Given the description of an element on the screen output the (x, y) to click on. 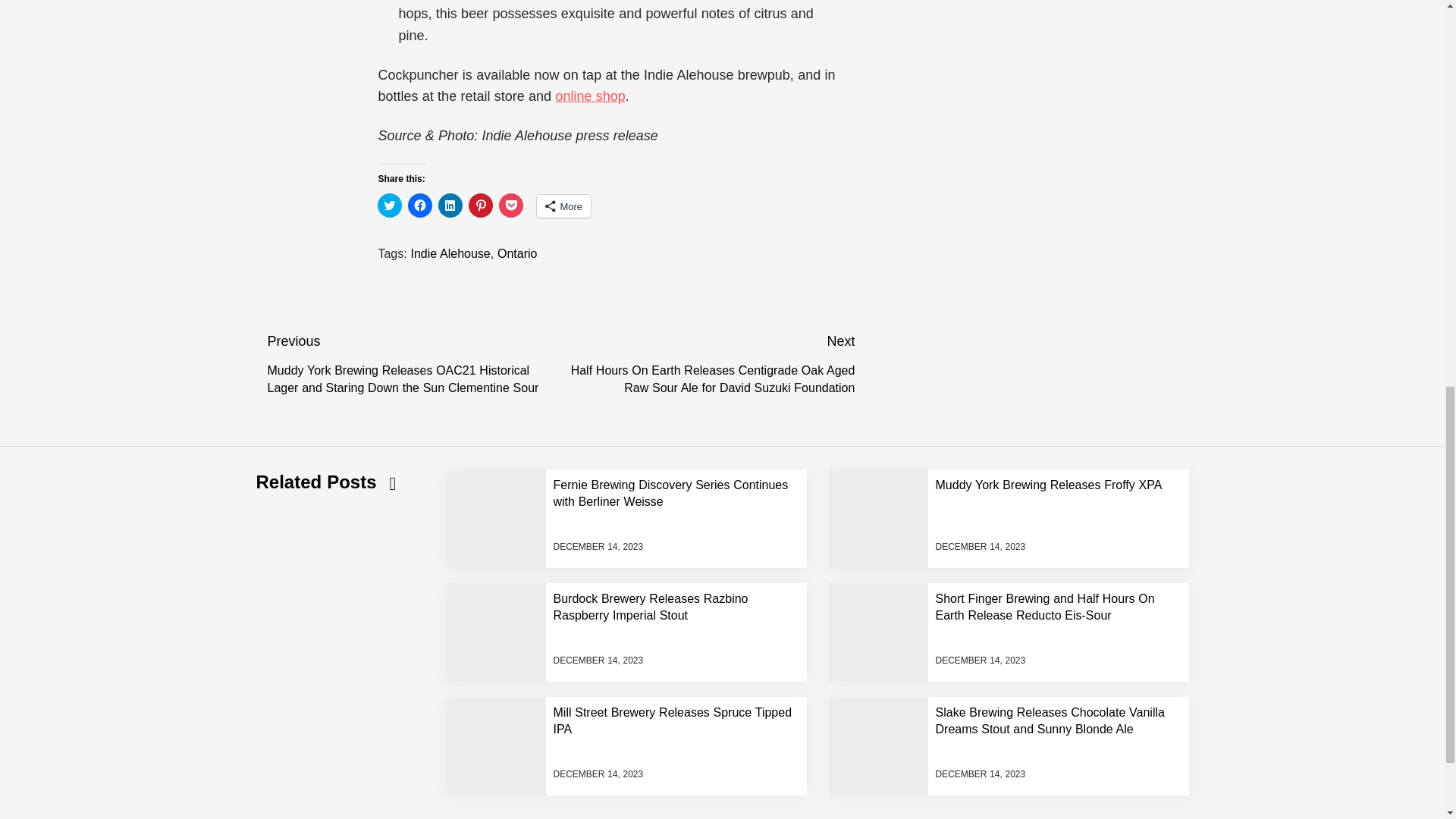
Click to share on LinkedIn (450, 205)
Ontario (517, 253)
Click to share on Twitter (389, 205)
More (564, 205)
Indie Alehouse (449, 253)
online shop (589, 96)
Click to share on Pocket (510, 205)
Click to share on Pinterest (480, 205)
